Given the description of an element on the screen output the (x, y) to click on. 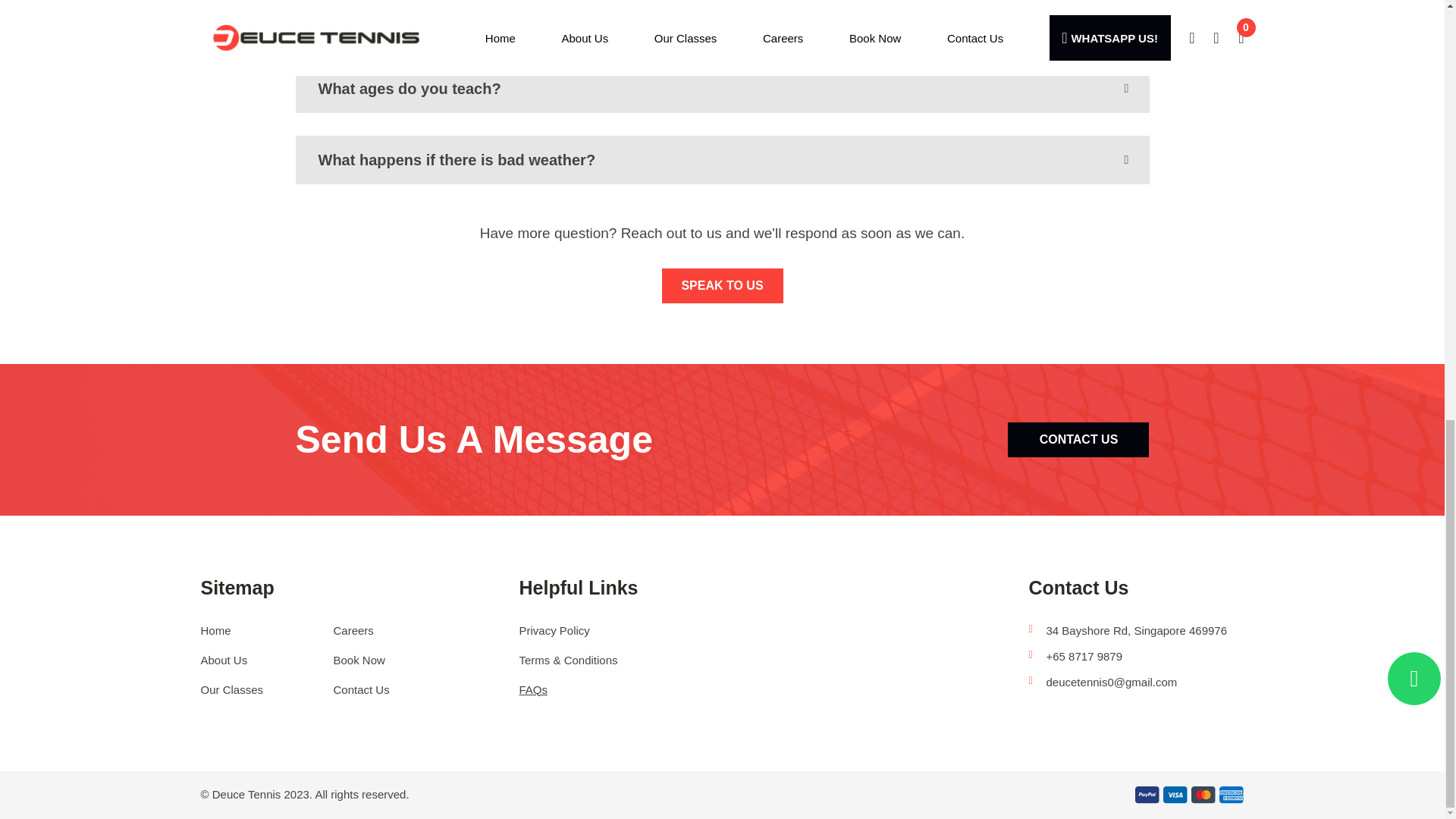
FAQs (532, 689)
Home (215, 630)
What ages do you teach? (722, 88)
Where will the classes be held? (722, 20)
Careers (353, 630)
Our Classes (231, 689)
Book Now (359, 659)
SPEAK TO US (722, 285)
Privacy Policy (553, 630)
What happens if there is bad weather? (722, 159)
Contact Us (361, 689)
About Us (223, 659)
CONTACT US (1077, 439)
